Given the description of an element on the screen output the (x, y) to click on. 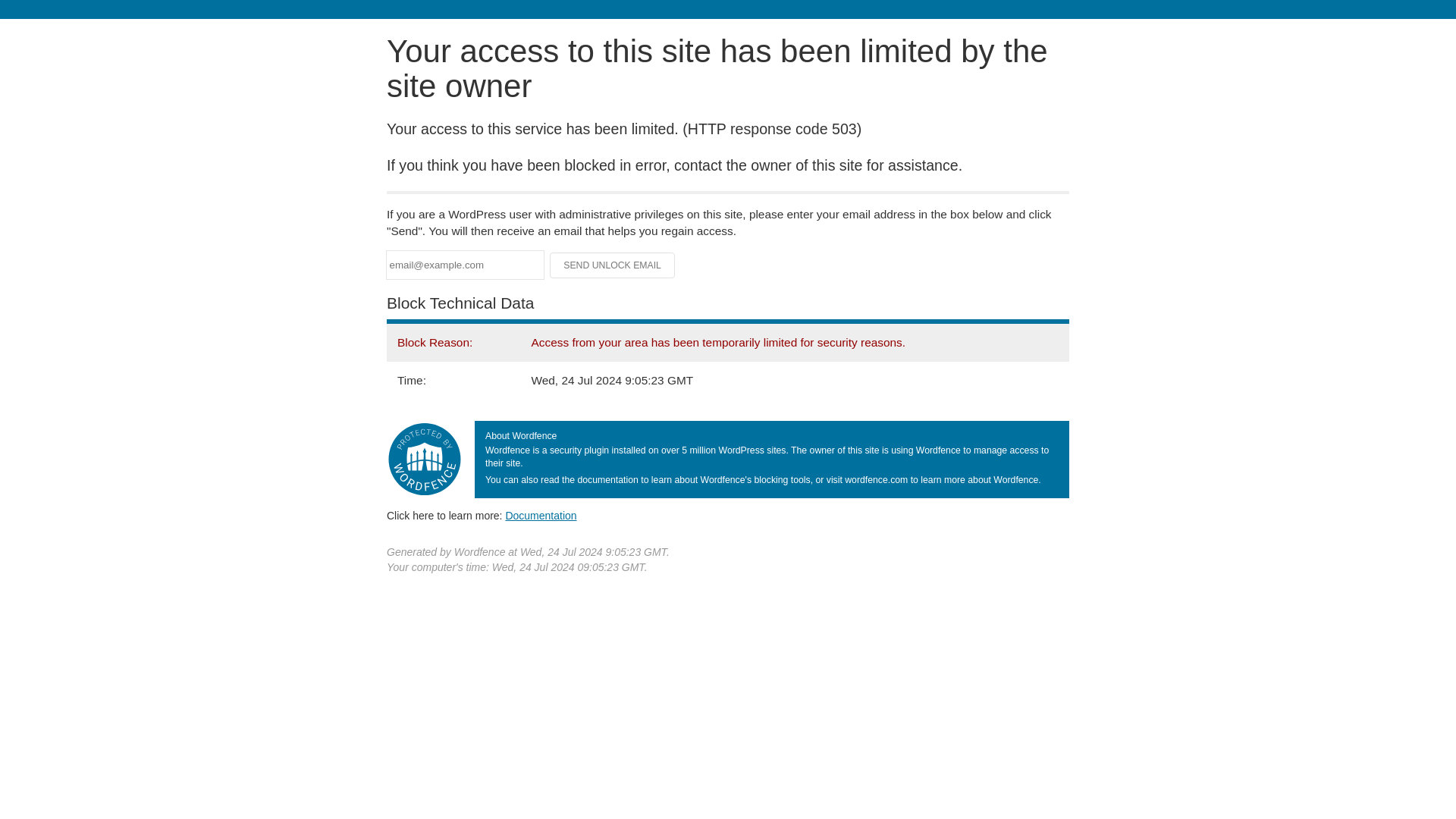
Send Unlock Email (612, 265)
Documentation (540, 515)
Send Unlock Email (612, 265)
